Given the description of an element on the screen output the (x, y) to click on. 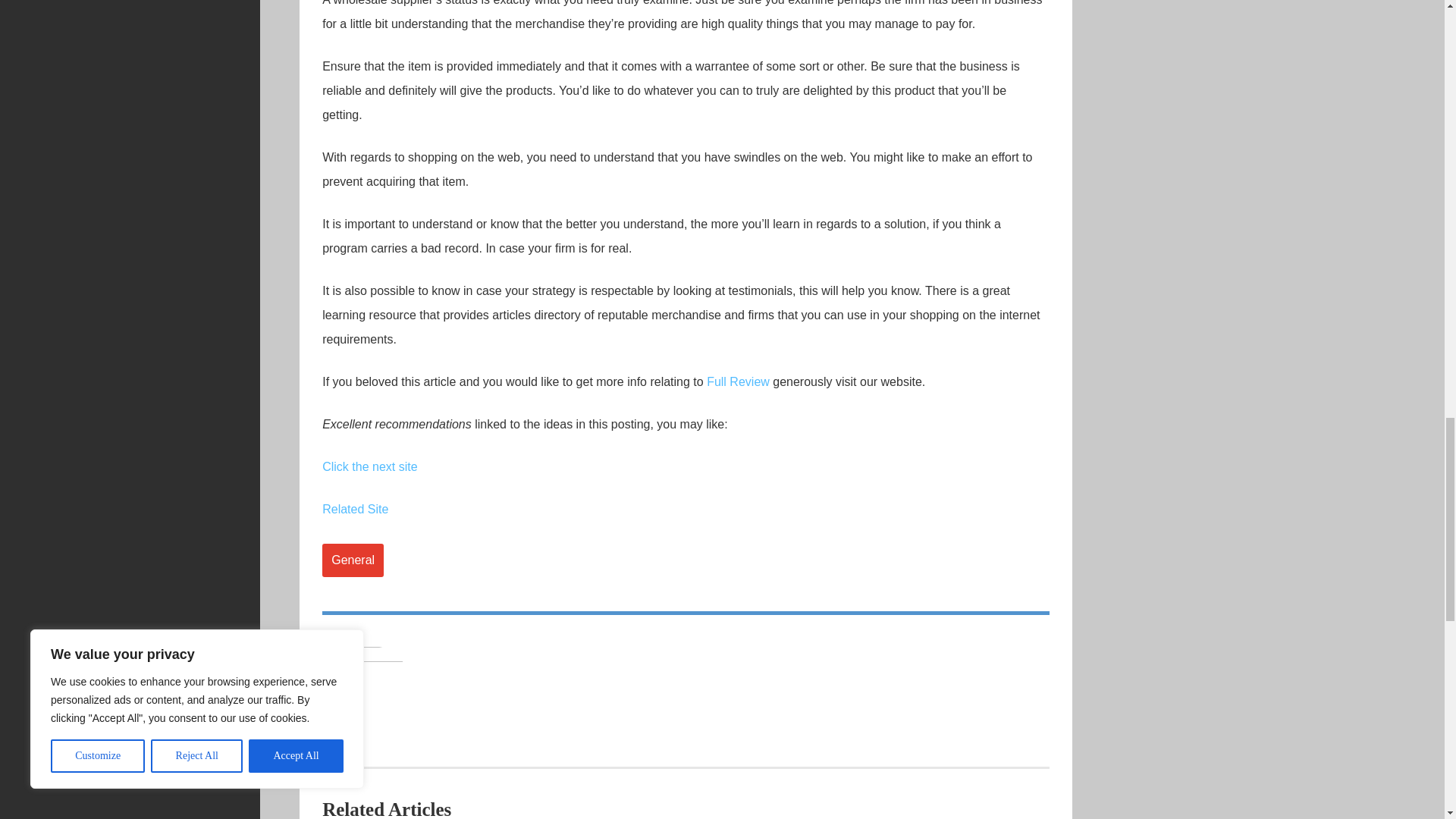
General (352, 560)
Full Review (738, 381)
Related Site (354, 508)
Click the next site (368, 466)
